Given the description of an element on the screen output the (x, y) to click on. 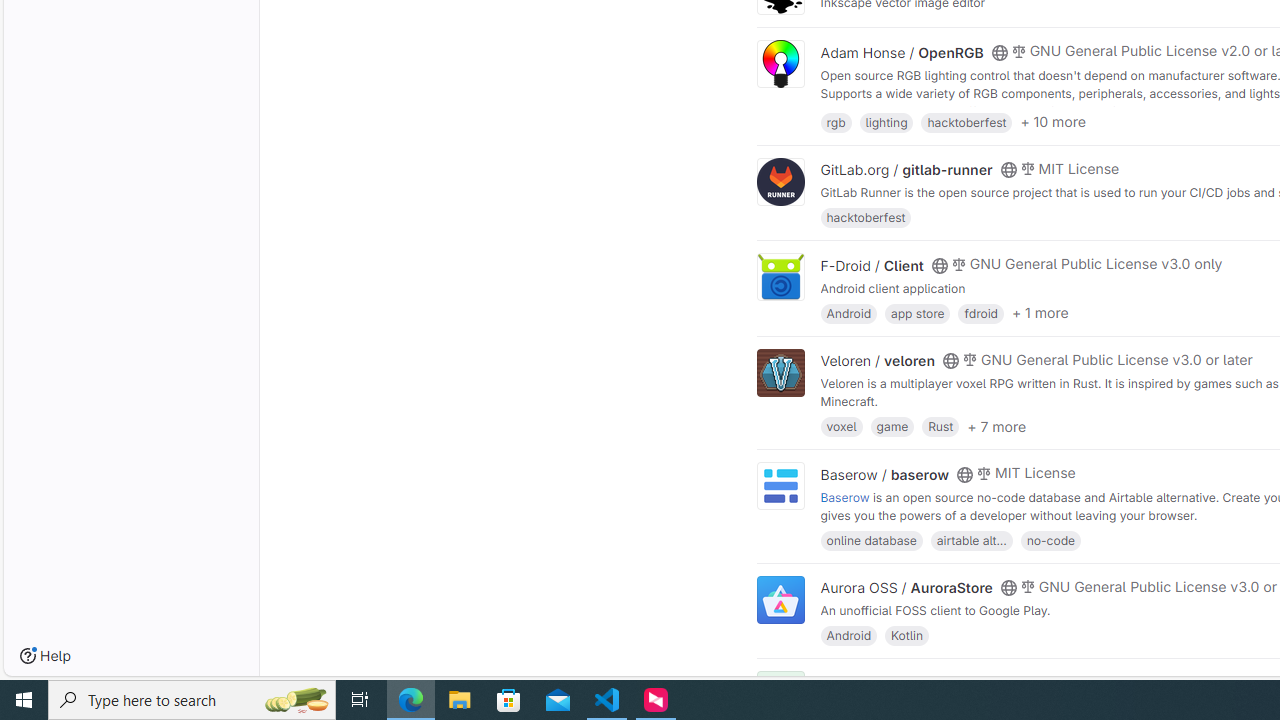
Baserow / baserow (884, 474)
Class: s14 gl-mr-2 (1018, 681)
rgb (836, 120)
voxel (841, 426)
Adam Honse / OpenRGB (902, 52)
F-Droid / Client (872, 265)
+ 7 more (996, 425)
https://openrgb.org (989, 110)
+ 1 more (1039, 313)
hacktoberfest (866, 217)
Kotlin (907, 634)
Veloren / veloren (877, 361)
GitLab.org / gitlab-runner (906, 170)
online database (871, 539)
game (892, 426)
